Given the description of an element on the screen output the (x, y) to click on. 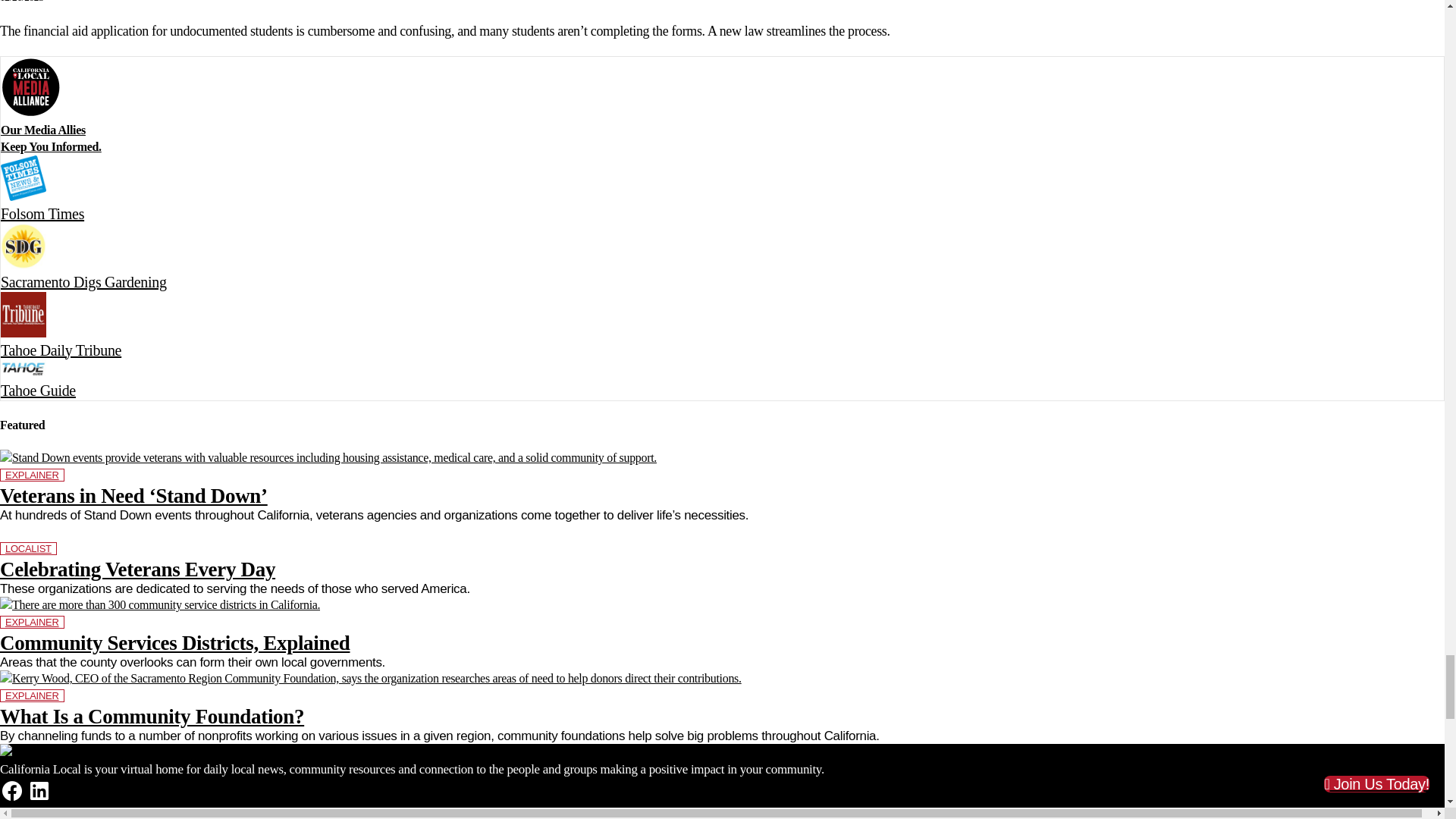
California Local Media Alliance (31, 86)
